Given the description of an element on the screen output the (x, y) to click on. 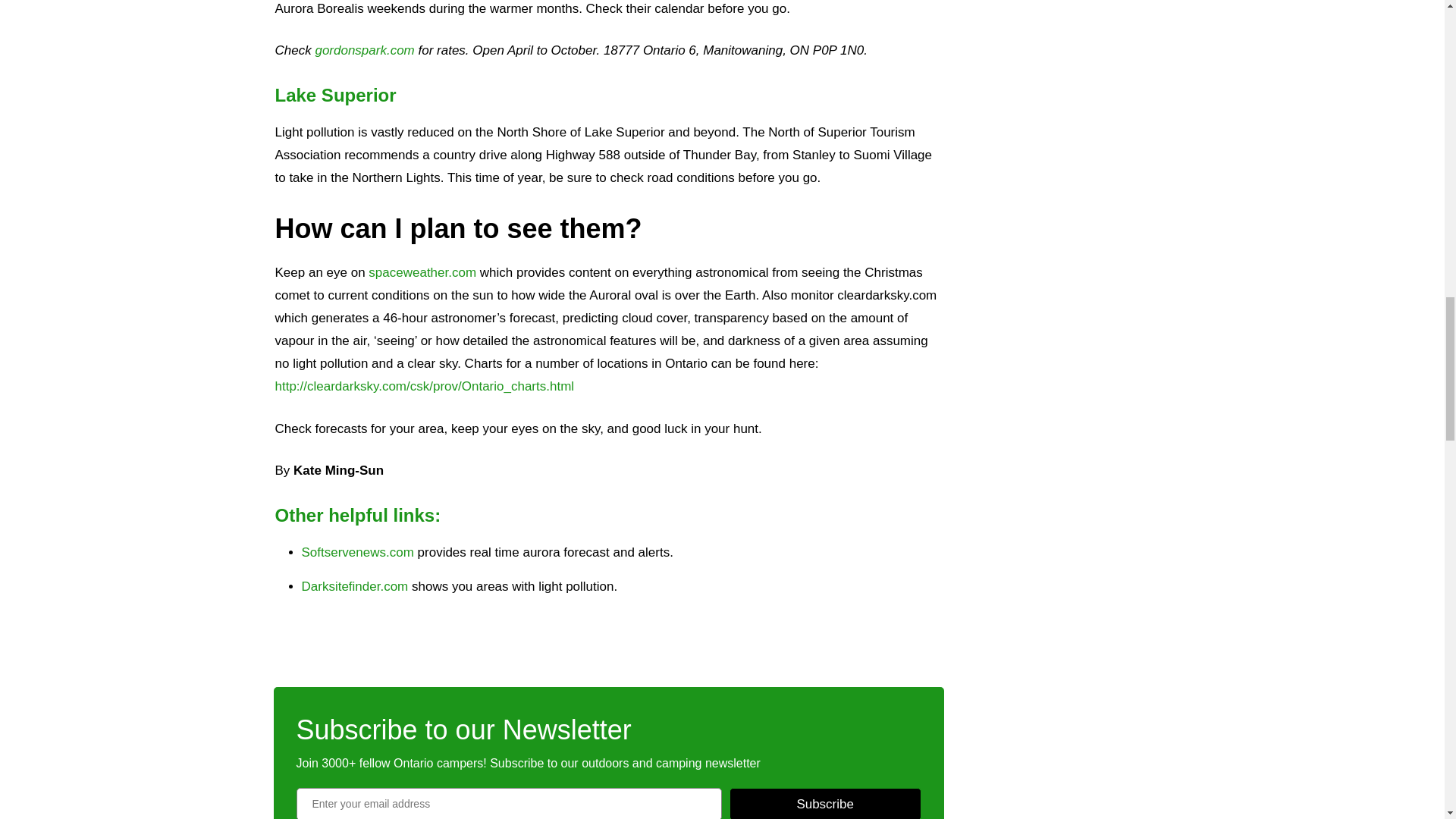
Darksitefinder.com (355, 586)
Softservenews.com (357, 552)
Subscribe (825, 803)
gordonspark.com (363, 50)
spaceweather.com (422, 272)
Subscribe (825, 803)
